Given the description of an element on the screen output the (x, y) to click on. 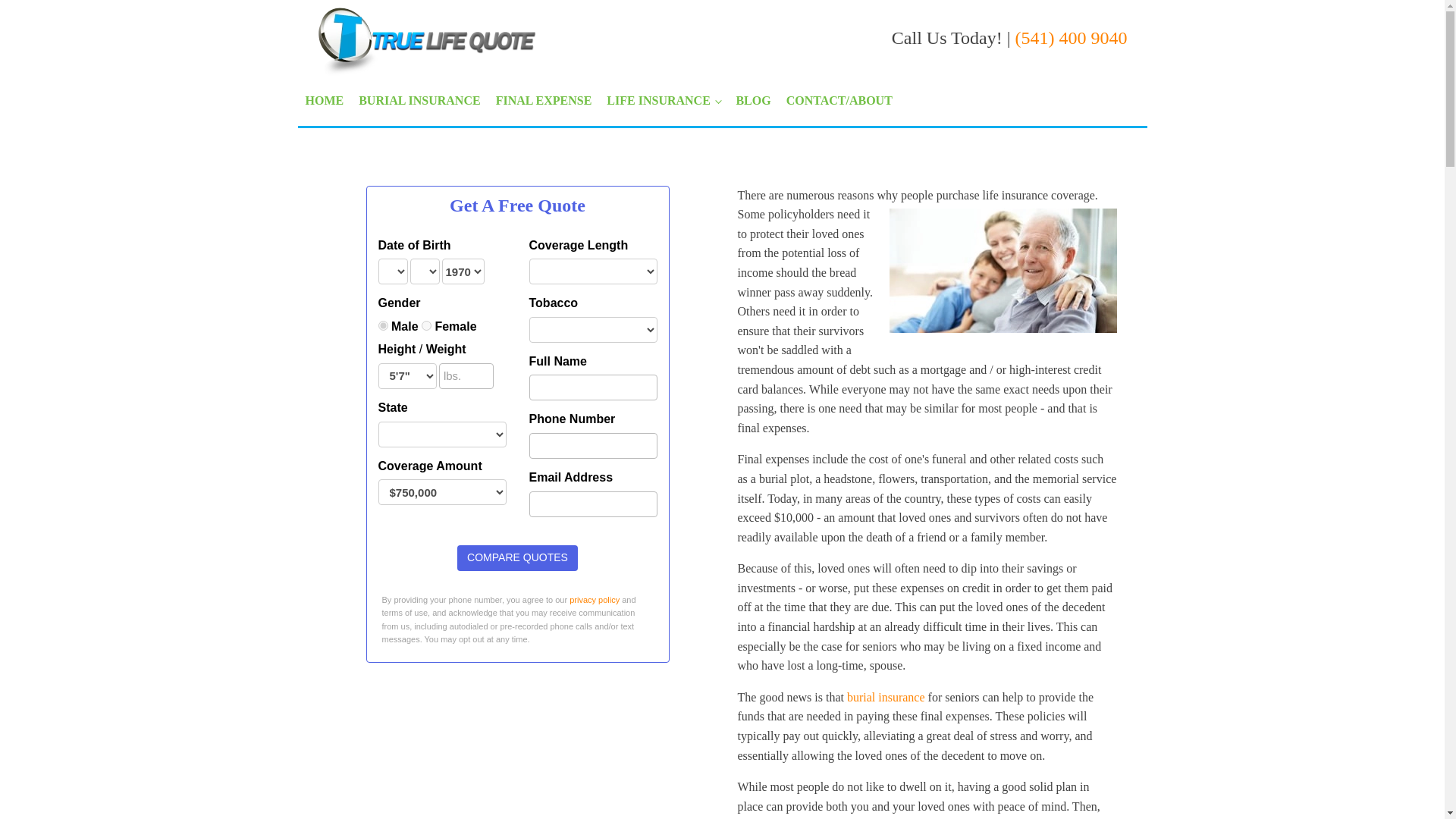
FINAL EXPENSE (543, 101)
m (382, 325)
privacy policy (594, 599)
Birth Year (462, 271)
COMPARE QUOTES (517, 557)
burial insurance (885, 697)
BLOG (752, 101)
BURIAL INSURANCE (418, 101)
HOME (323, 101)
LIFE INSURANCE (663, 101)
f (426, 325)
Birth Month (392, 271)
Birth Day (424, 271)
